Given the description of an element on the screen output the (x, y) to click on. 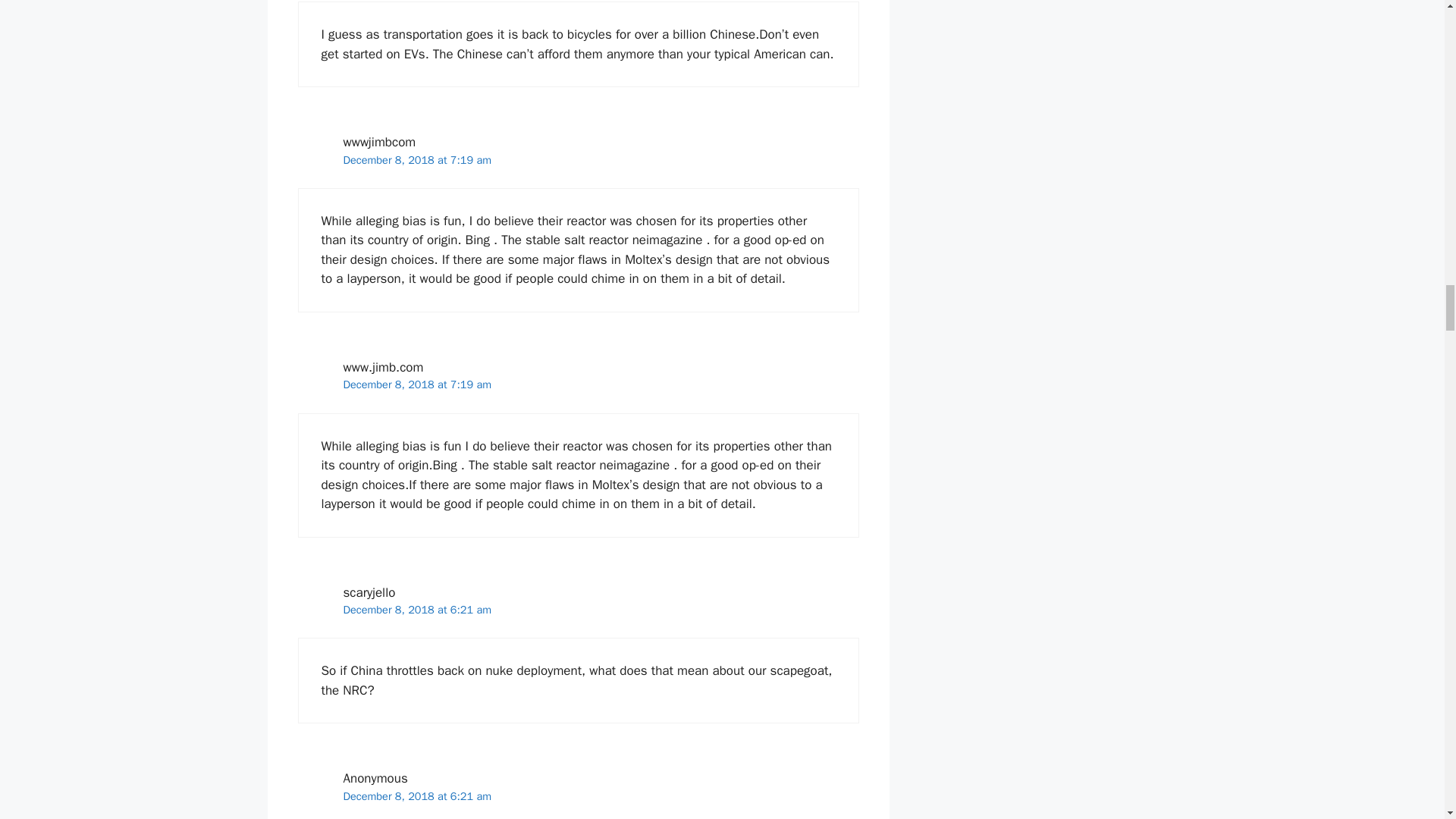
December 8, 2018 at 7:19 am (417, 384)
December 8, 2018 at 6:21 am (417, 609)
December 8, 2018 at 7:19 am (417, 160)
